Given the description of an element on the screen output the (x, y) to click on. 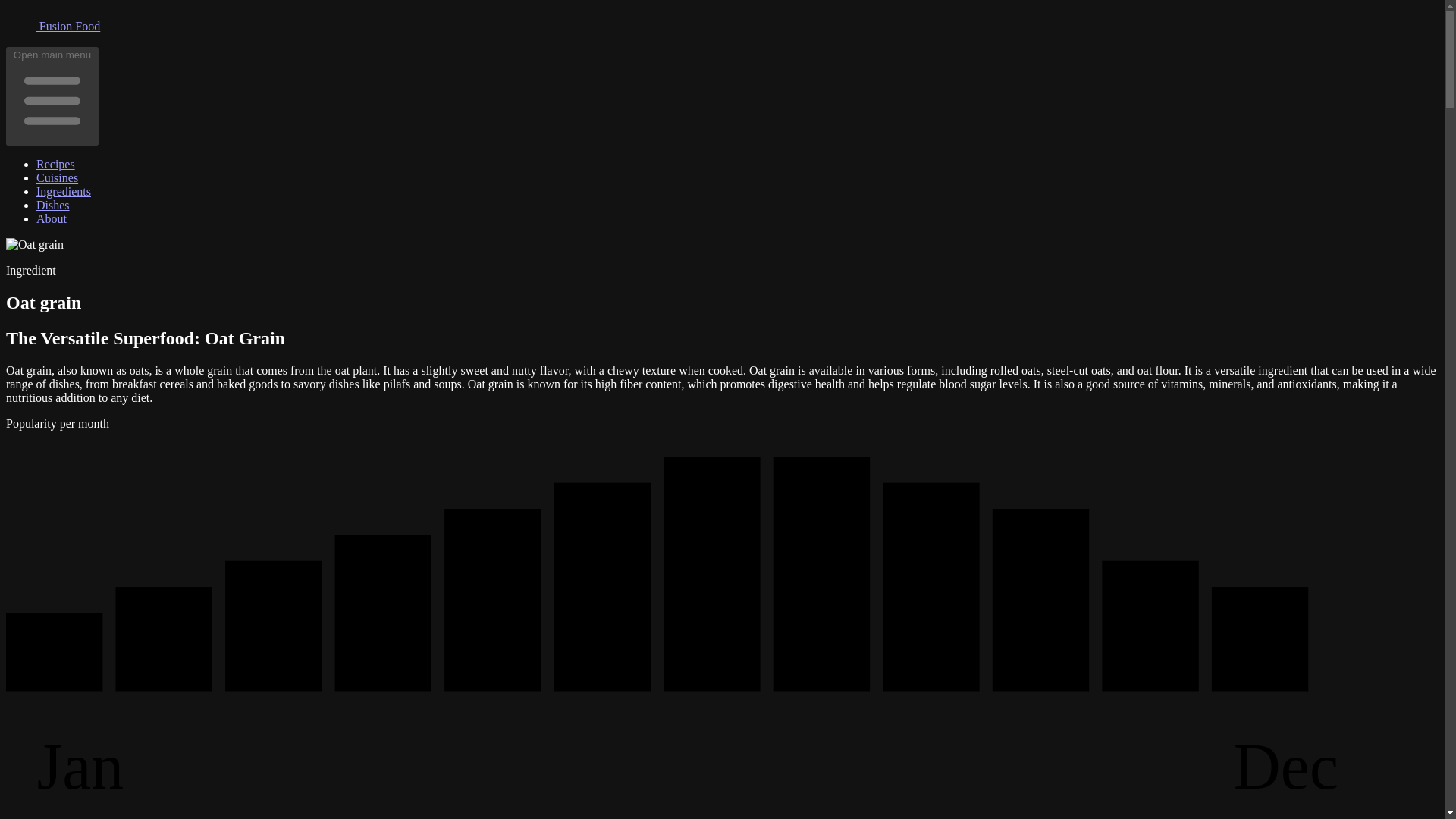
Recipes (55, 164)
About (51, 218)
Cuisines (57, 177)
Ingredients (63, 191)
Fusion Food (52, 25)
Open main menu (52, 95)
Dishes (52, 205)
